Given the description of an element on the screen output the (x, y) to click on. 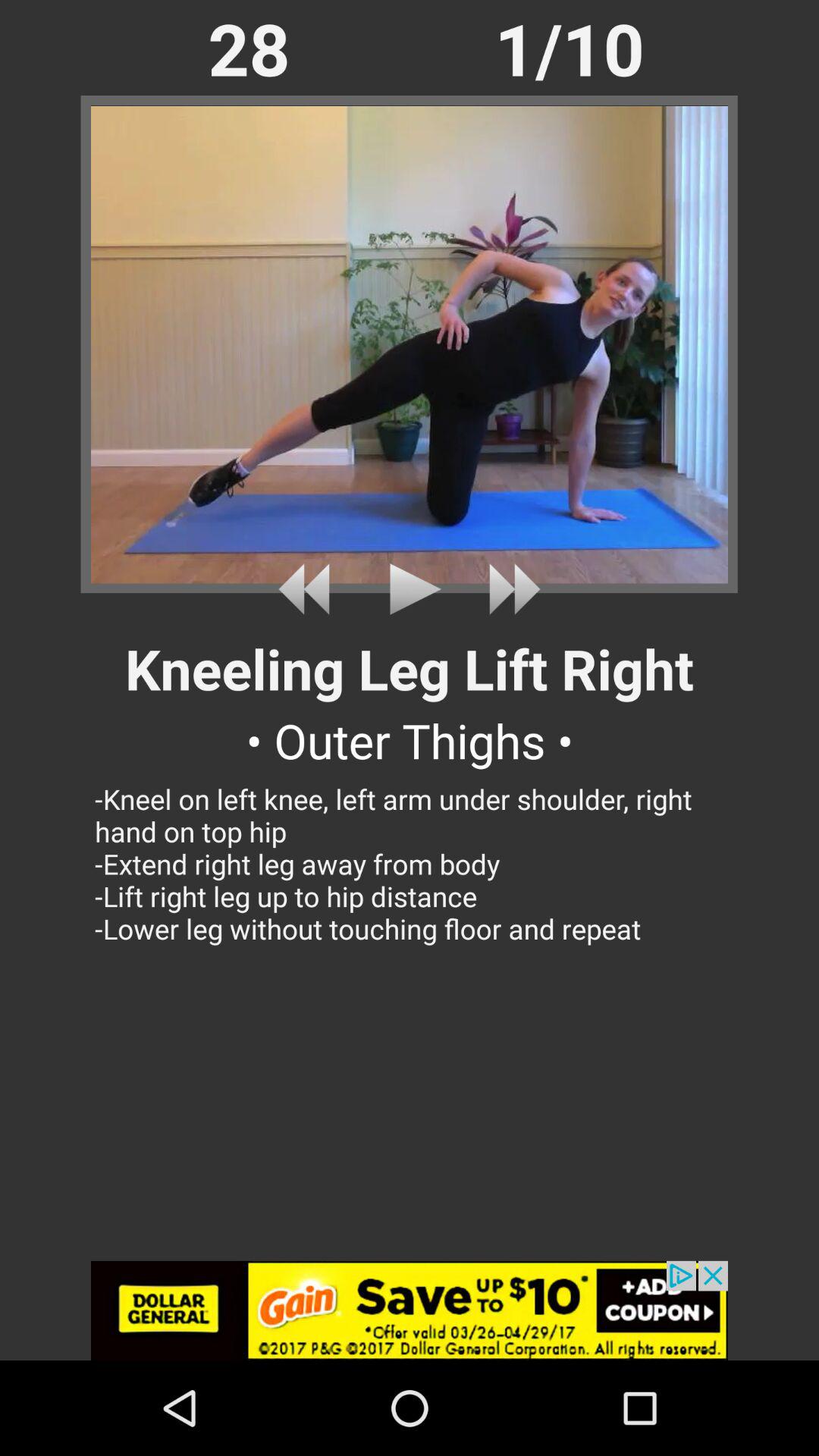
view previous video or rewind (309, 589)
